Given the description of an element on the screen output the (x, y) to click on. 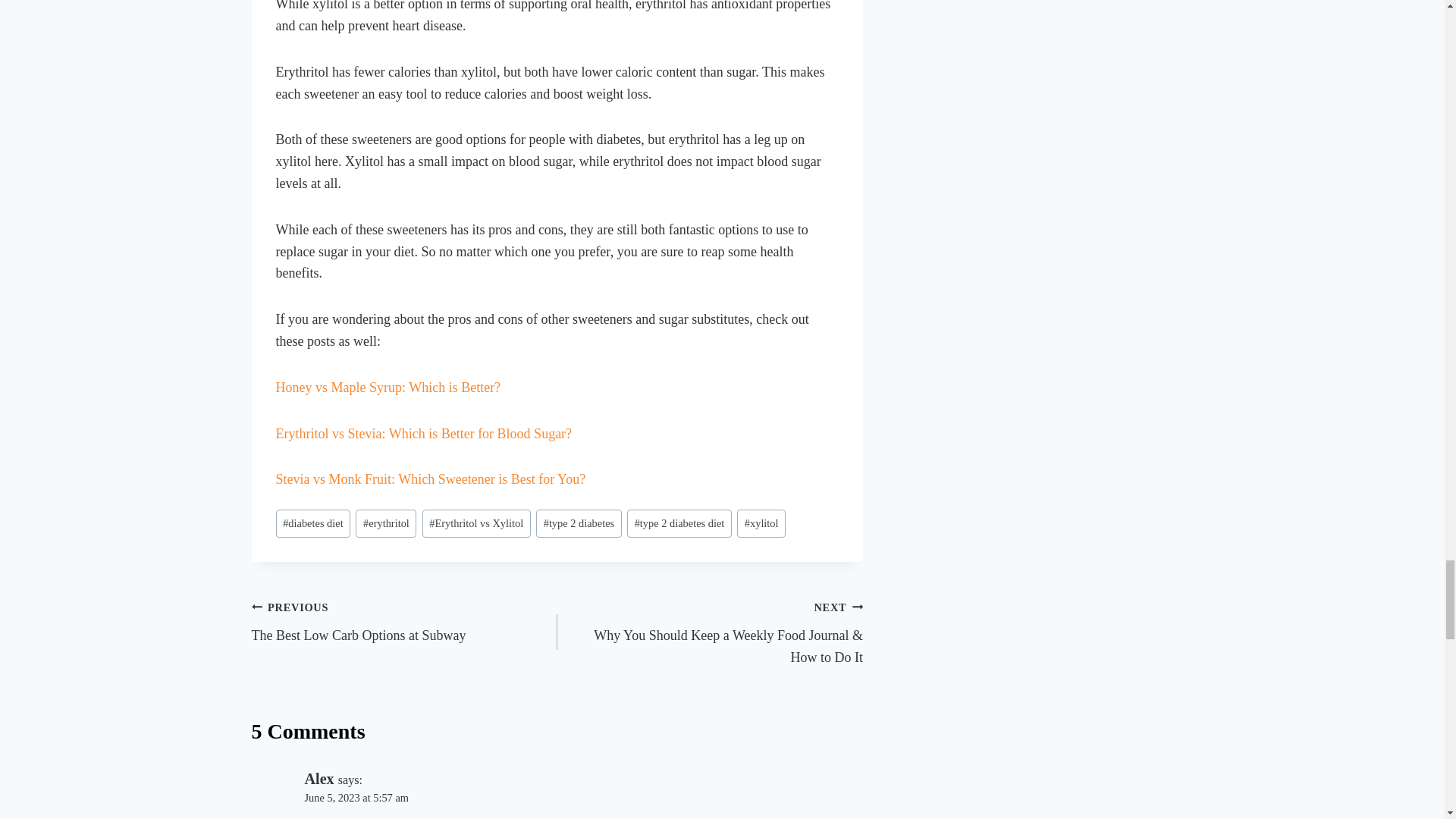
type 2 diabetes (578, 523)
Erythritol vs Xylitol (476, 523)
type 2 diabetes diet (679, 523)
diabetes diet (313, 523)
erythritol (385, 523)
xylitol (761, 523)
